Given the description of an element on the screen output the (x, y) to click on. 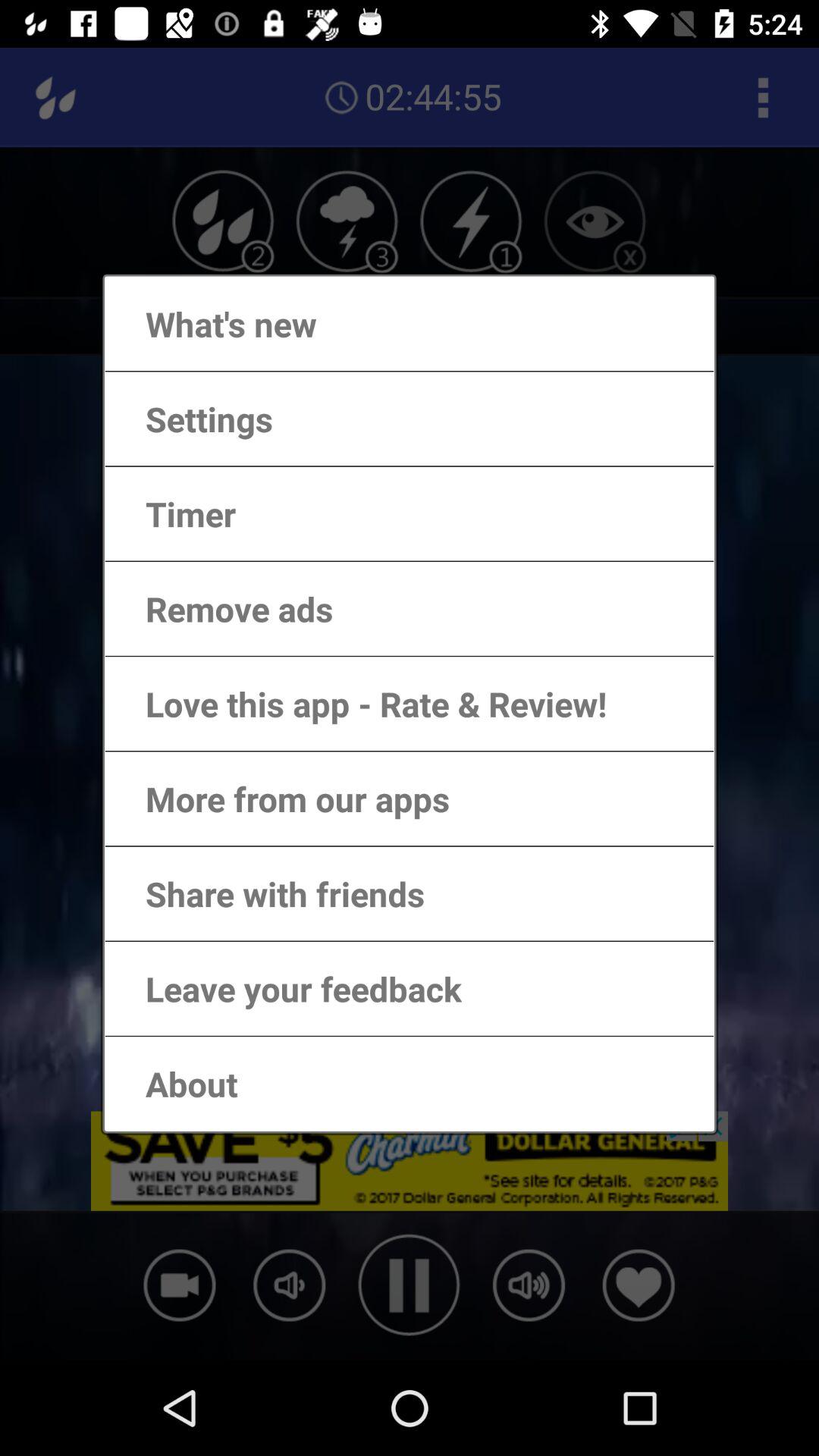
turn on item below the timer app (224, 608)
